Given the description of an element on the screen output the (x, y) to click on. 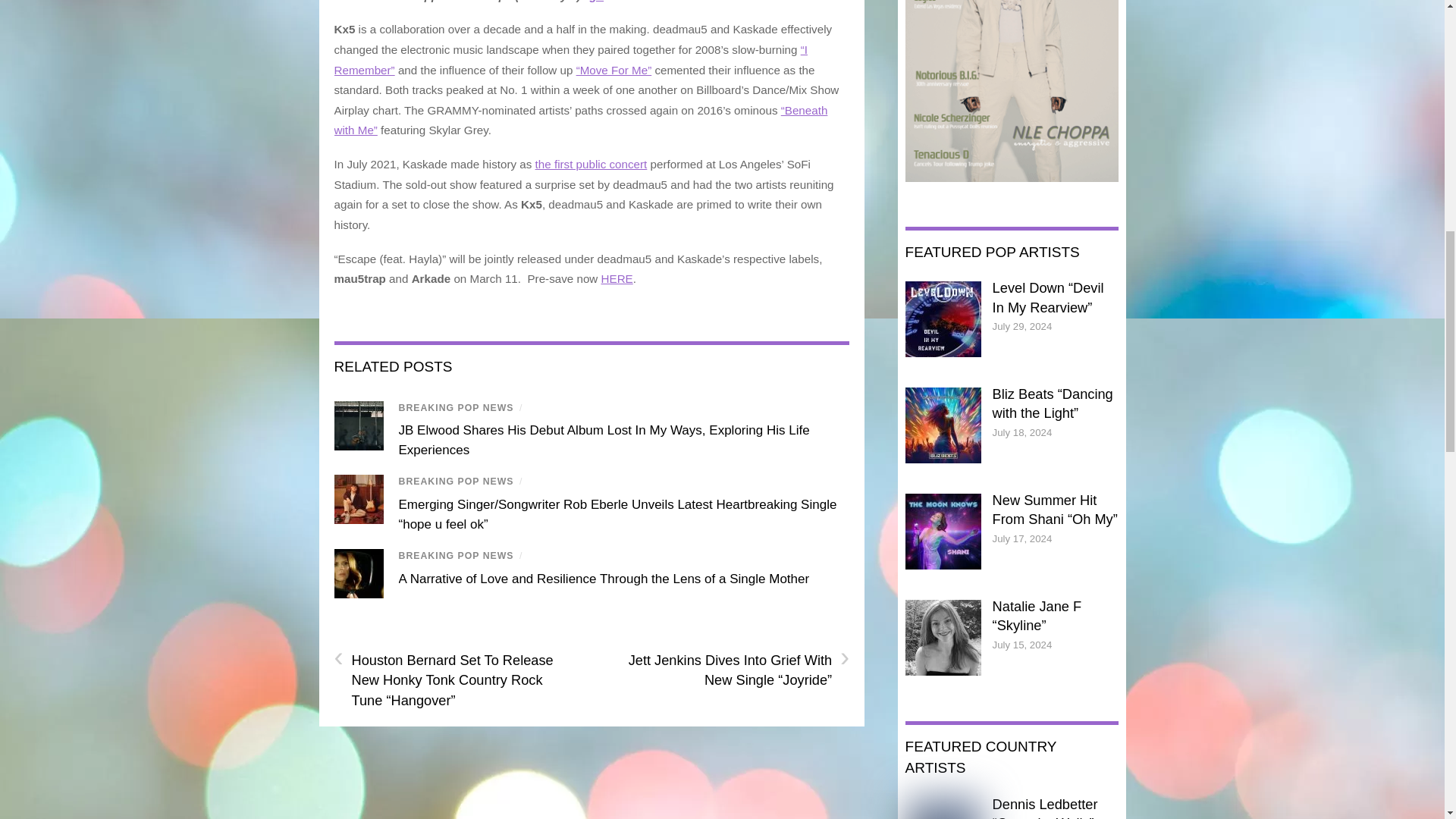
JB-multiple-3-2-1-scaled.jpg (357, 425)
